Given the description of an element on the screen output the (x, y) to click on. 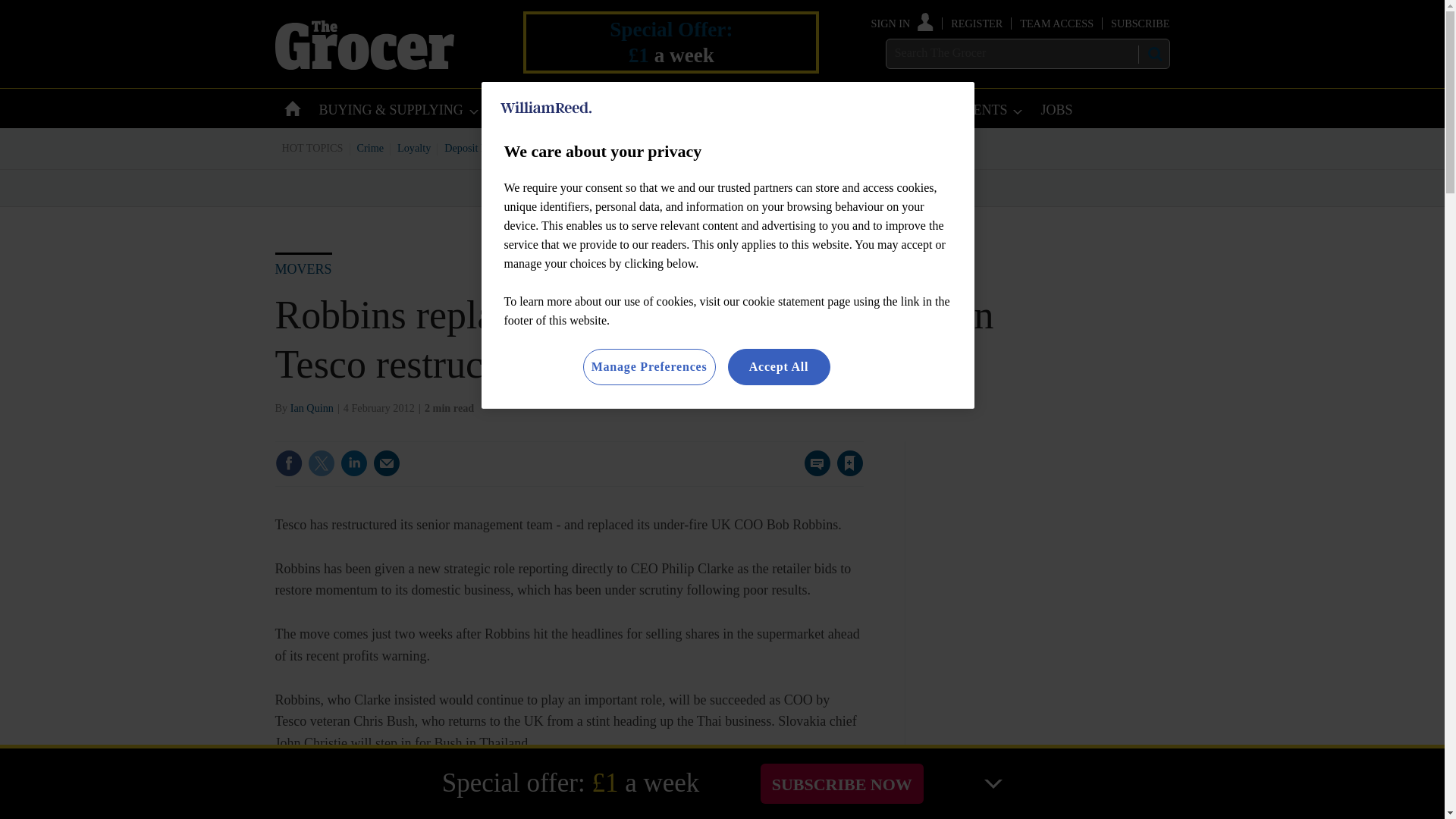
Crime (370, 147)
TEAM ACCESS (1056, 23)
KVI price tracker (602, 147)
SUBSCRIBE (1139, 23)
REGISTER (976, 23)
Share this on Twitter (320, 462)
Loyalty (414, 147)
Share this on Facebook (288, 462)
Email this article (386, 462)
SIGN IN (902, 23)
